Given the description of an element on the screen output the (x, y) to click on. 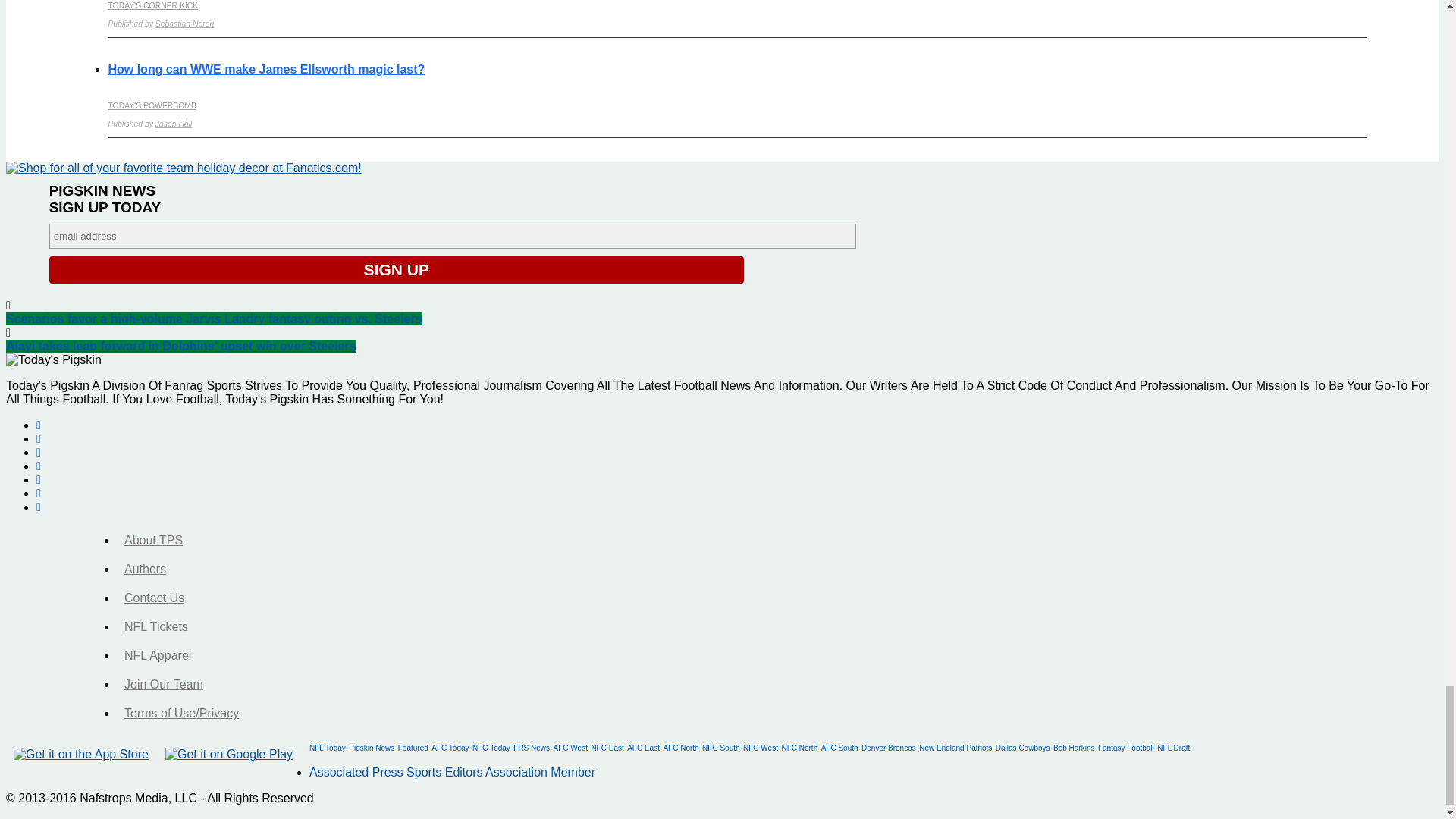
Sign Up (396, 269)
